Given the description of an element on the screen output the (x, y) to click on. 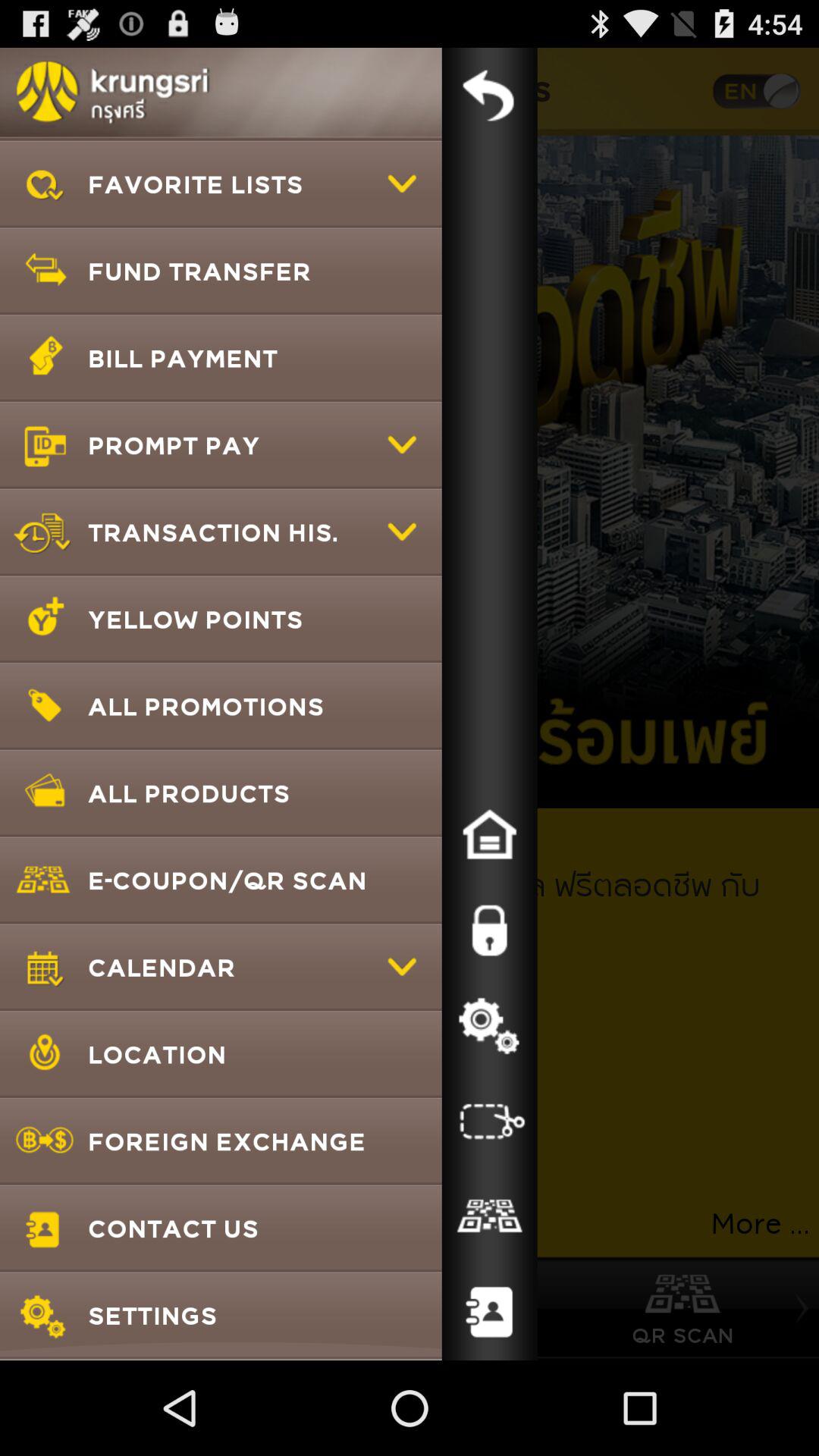
add qr code (489, 1216)
